Given the description of an element on the screen output the (x, y) to click on. 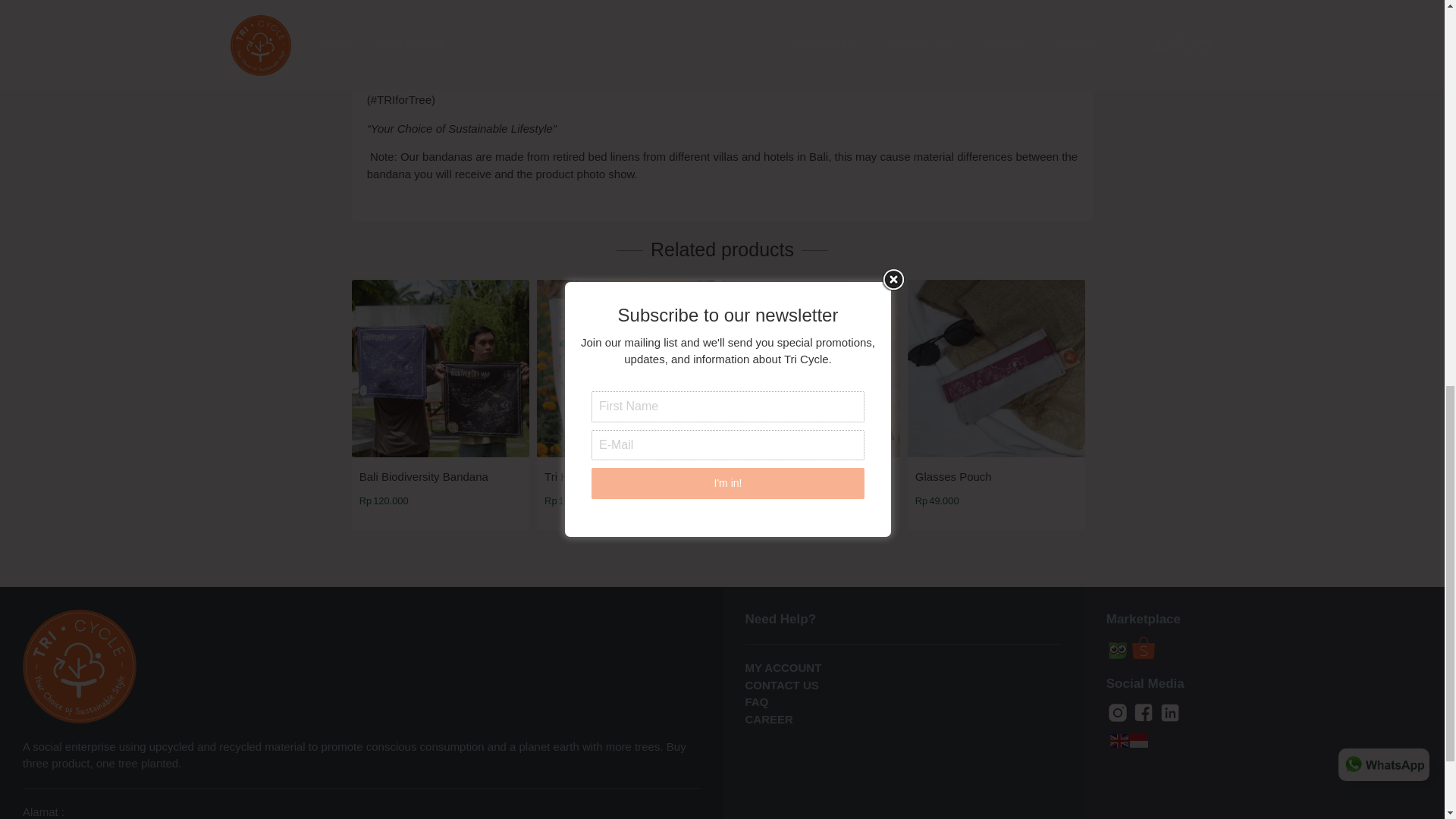
English (1119, 739)
Indonesian (1139, 739)
